Given the description of an element on the screen output the (x, y) to click on. 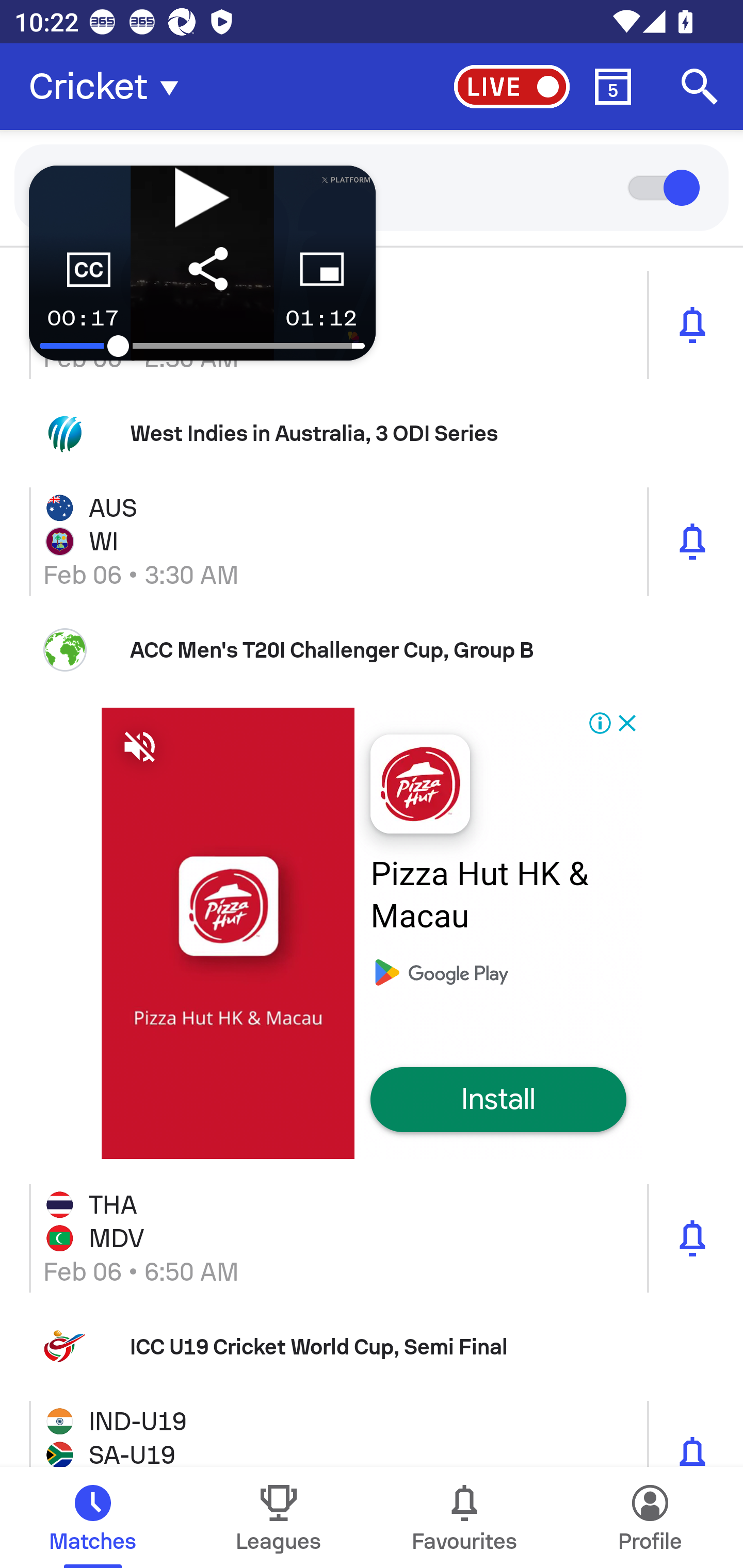
Cricket (109, 86)
Calendar (612, 86)
Search (699, 86)
West Indies in Australia, 3 ODI Series (371, 433)
AUS WI Feb 06 • 3:30 AM (371, 541)
ACC Men's T20I Challenger Cup, Group B (371, 649)
Pizza Hut HK &
Macau Install Install (371, 932)
Install (498, 1099)
THA MDV Feb 06 • 6:50 AM (371, 1237)
ICC U19 Cricket World Cup, Semi Final (371, 1346)
IND-U19 SA-U19 (371, 1428)
Leagues (278, 1517)
Favourites (464, 1517)
Profile (650, 1517)
